Given the description of an element on the screen output the (x, y) to click on. 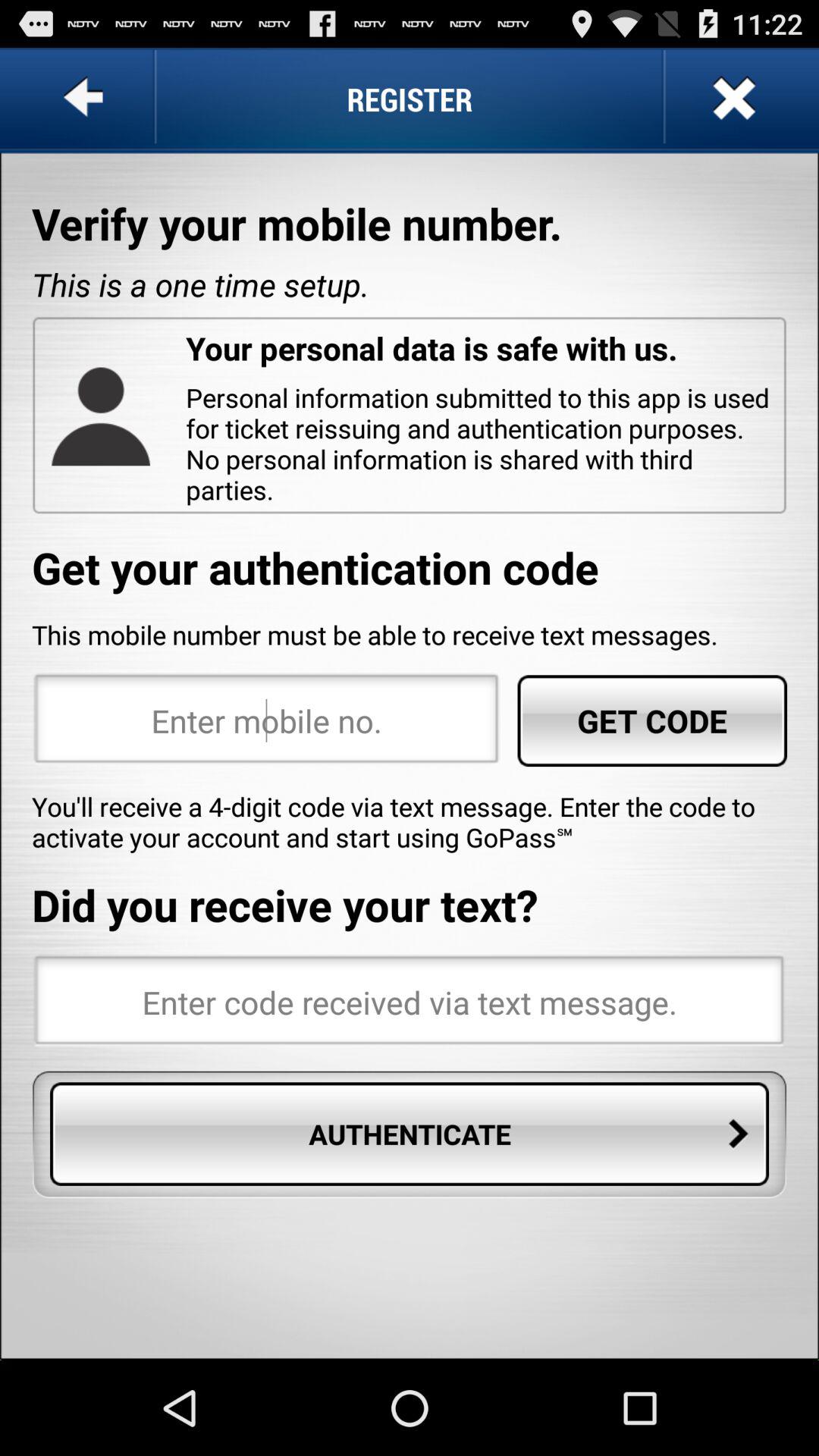
click icon to the left of the register (86, 99)
